Given the description of an element on the screen output the (x, y) to click on. 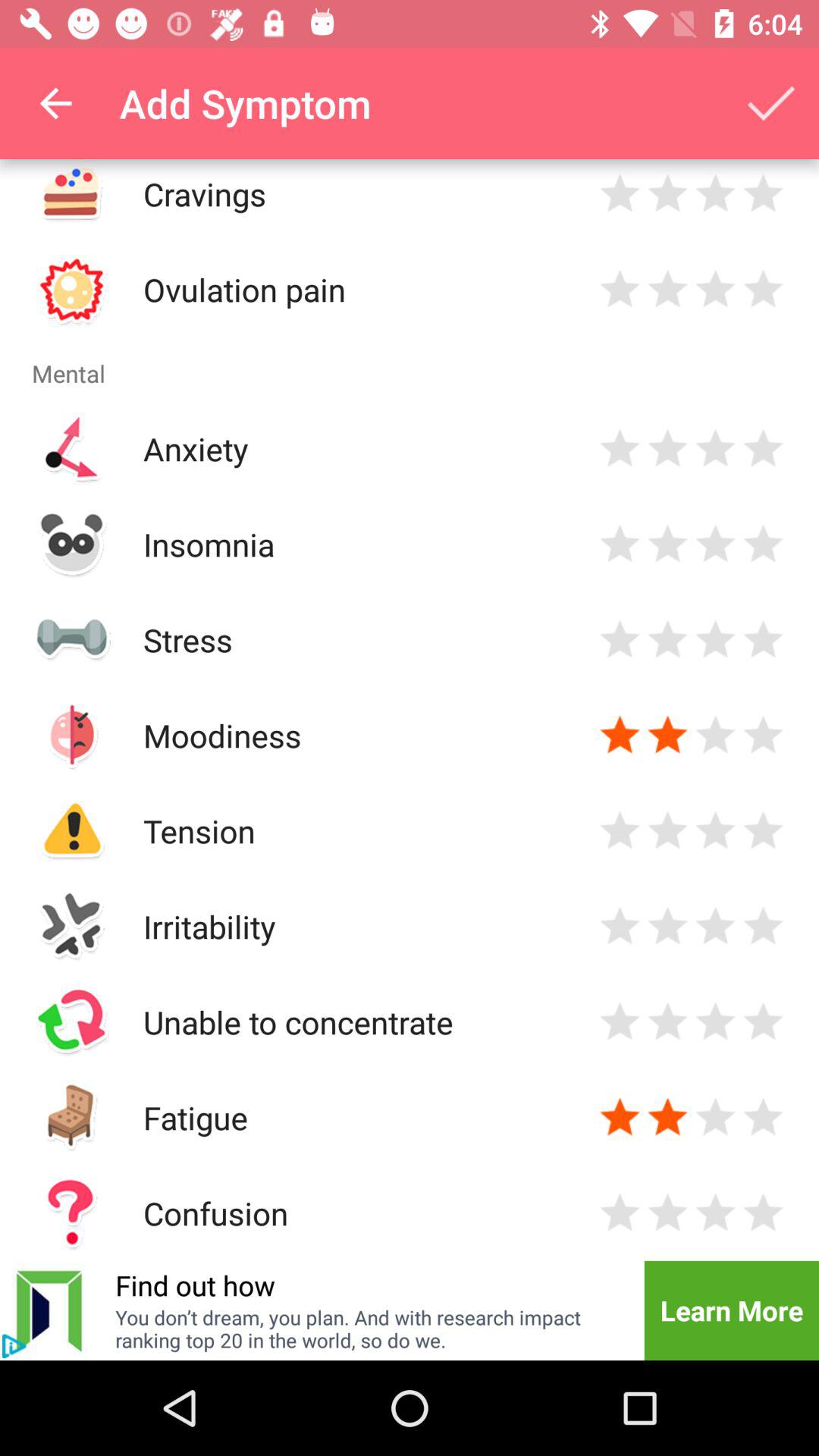
rate symptom 3 stars (715, 448)
